Given the description of an element on the screen output the (x, y) to click on. 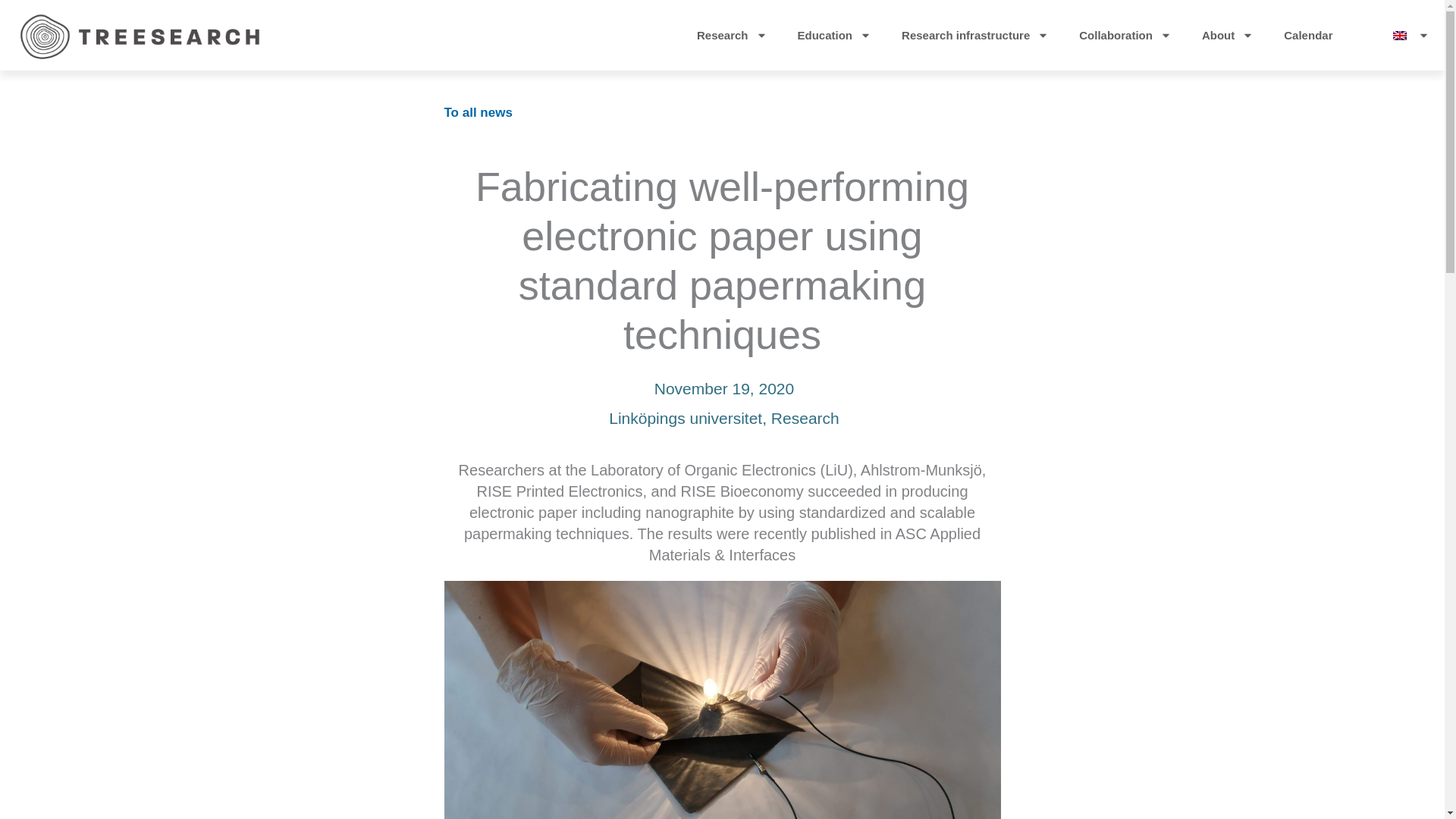
Nanographite paper (722, 699)
Research (732, 35)
About (1227, 35)
Collaboration (1125, 35)
Education (834, 35)
Research infrastructure (975, 35)
